Given the description of an element on the screen output the (x, y) to click on. 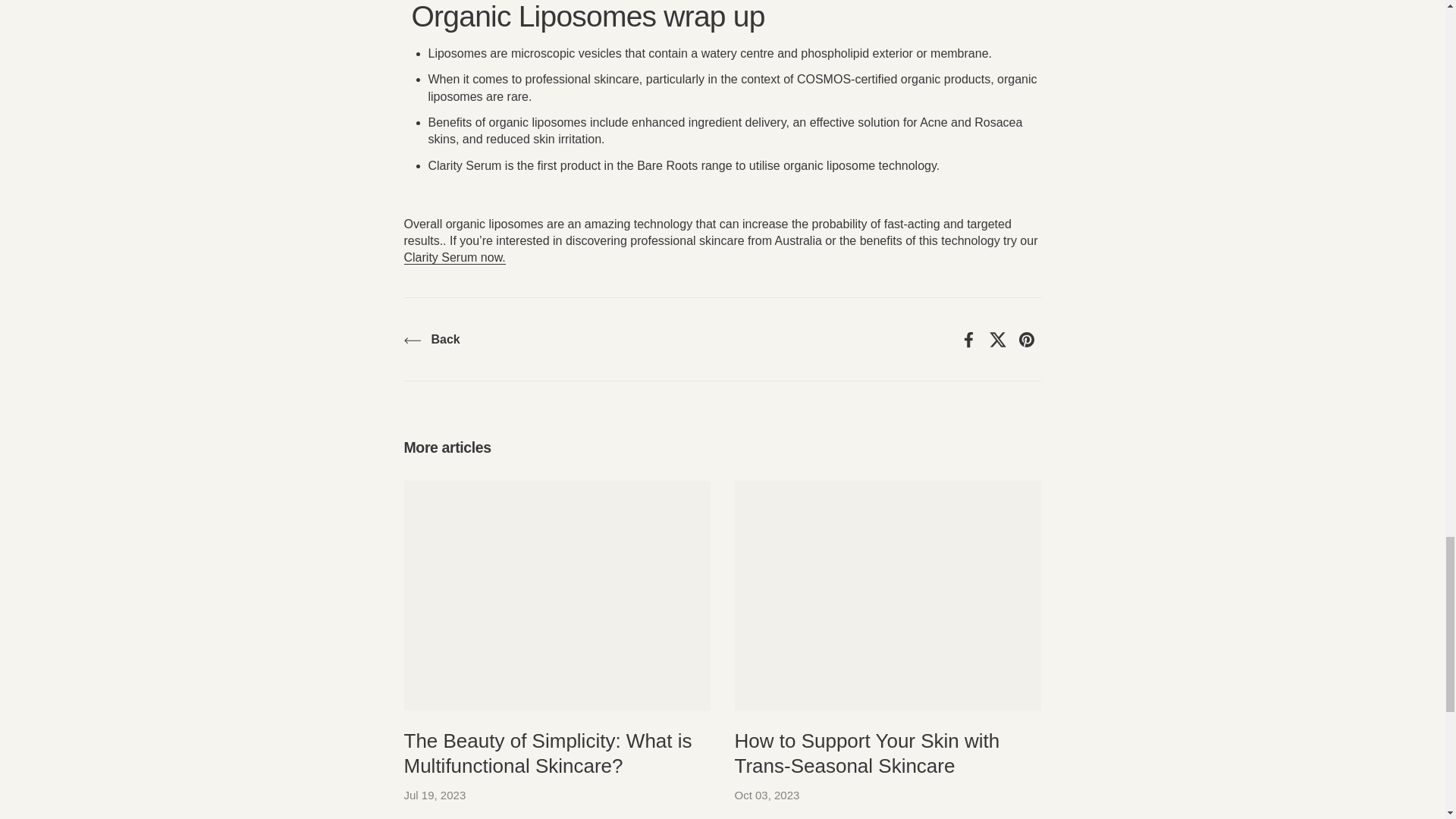
The Beauty of Simplicity: What is Multifunctional Skincare? (547, 755)
How to Support Your Skin with Trans-Seasonal Skincare (865, 755)
The Beauty of Simplicity: What is Multifunctional Skincare? (556, 595)
How to Support Your Skin with Trans-Seasonal Skincare (887, 595)
